Given the description of an element on the screen output the (x, y) to click on. 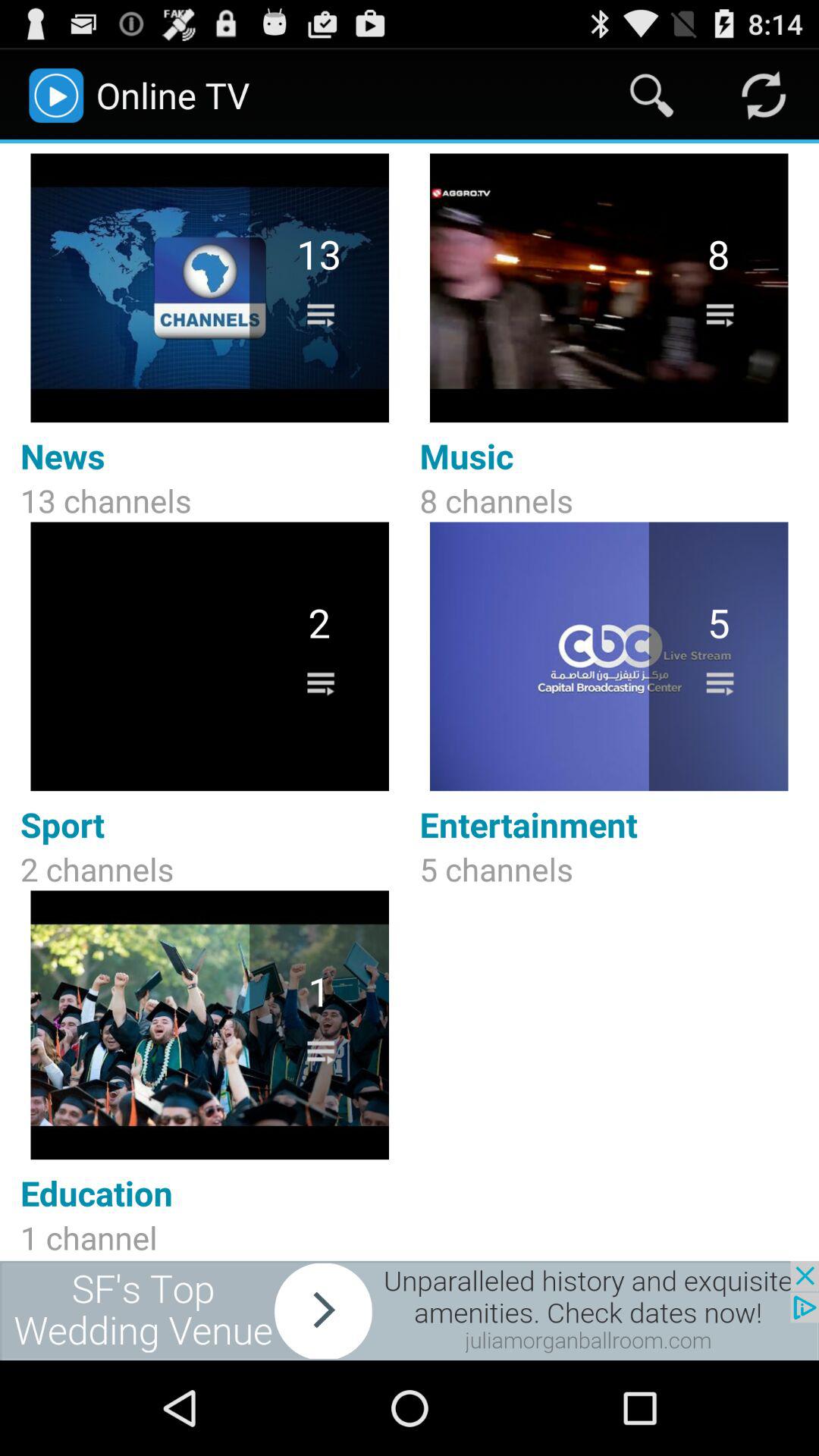
refresh (763, 95)
